Given the description of an element on the screen output the (x, y) to click on. 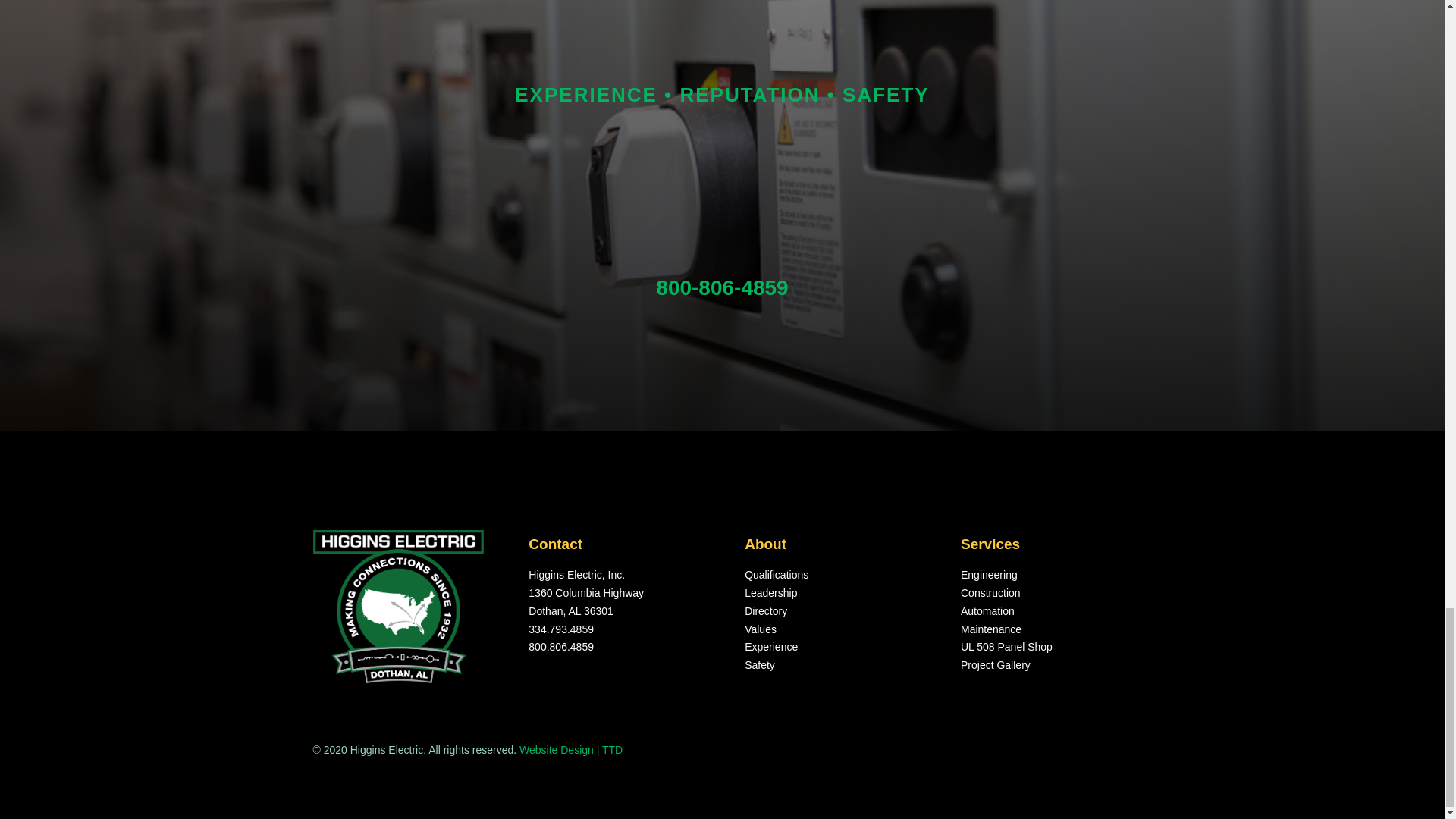
Higgins-Logo-Color (398, 606)
Qualifications (776, 574)
Leadership (770, 592)
800-806-4859 (721, 287)
